Given the description of an element on the screen output the (x, y) to click on. 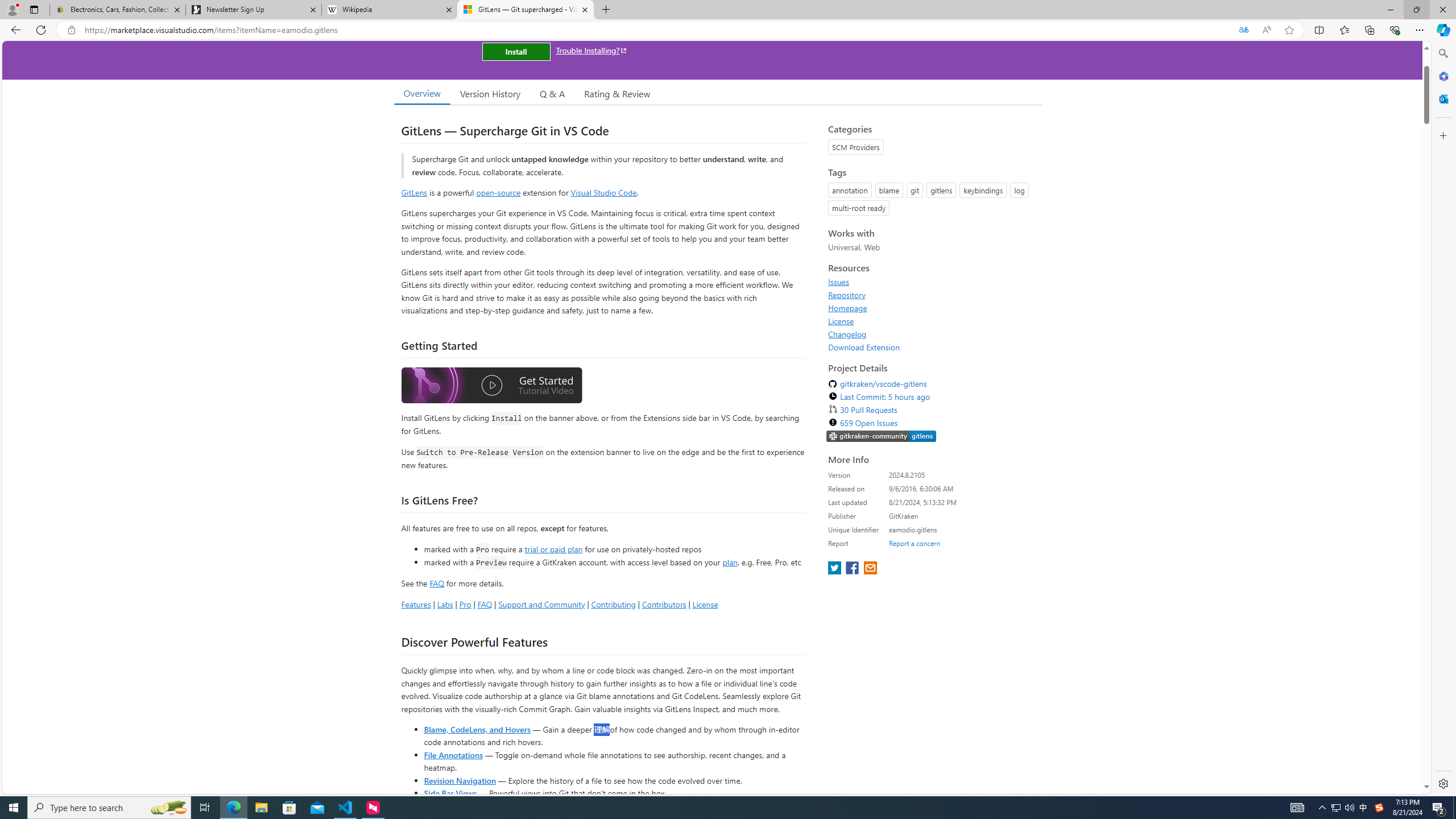
Support and Community (541, 603)
License (840, 320)
File Annotations (453, 754)
share extension on email (869, 568)
